Given the description of an element on the screen output the (x, y) to click on. 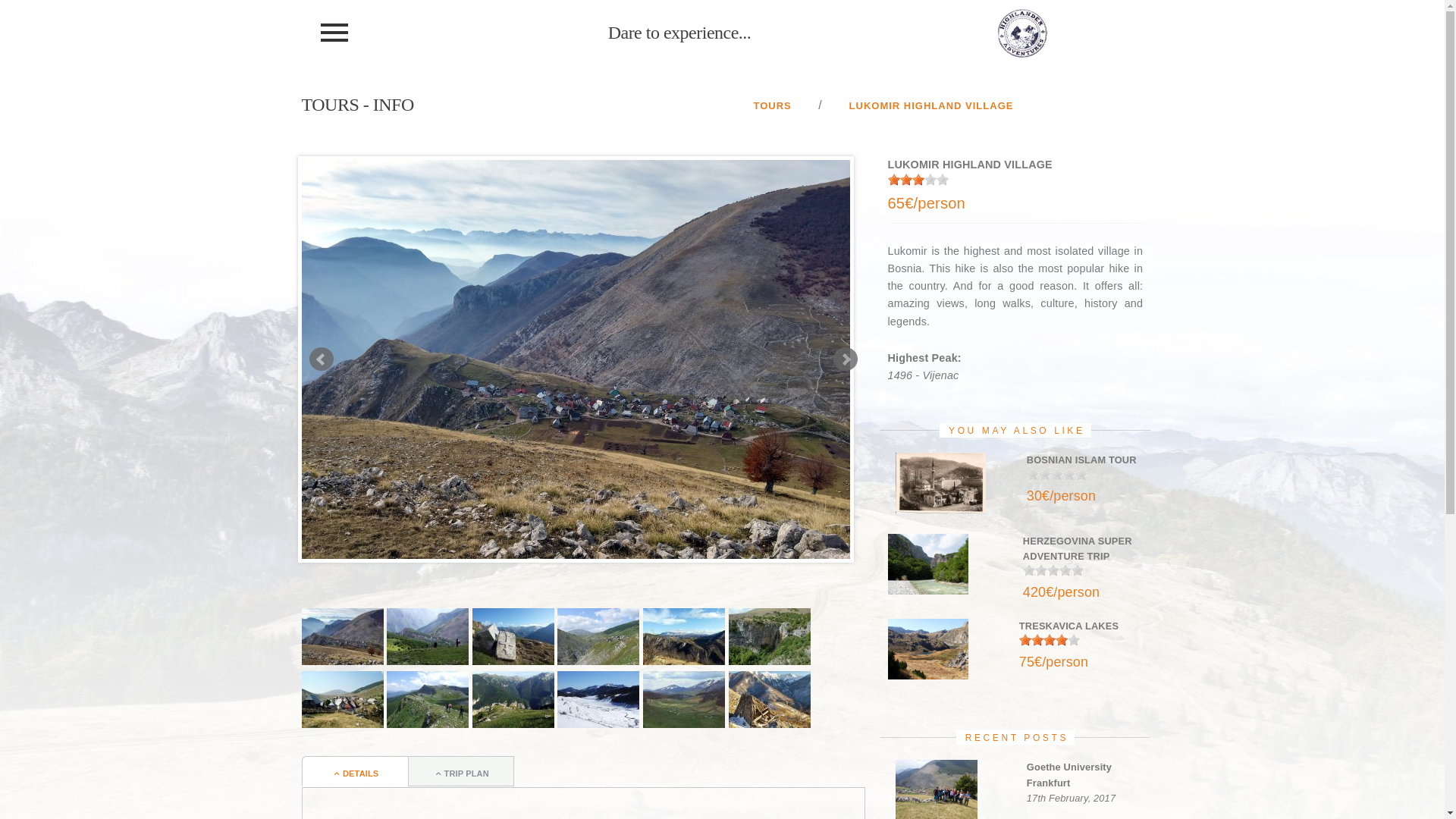
DETAILS Element type: text (354, 771)
LUKOMIR HIGHLAND VILLAGE Element type: text (931, 105)
TRIP PLAN Element type: text (460, 771)
RECENT POSTS Element type: text (1015, 737)
Prev Element type: text (321, 359)
TOURS Element type: text (771, 105)
Next Element type: text (844, 359)
YOU MAY ALSO LIKE Element type: text (1014, 430)
